Given the description of an element on the screen output the (x, y) to click on. 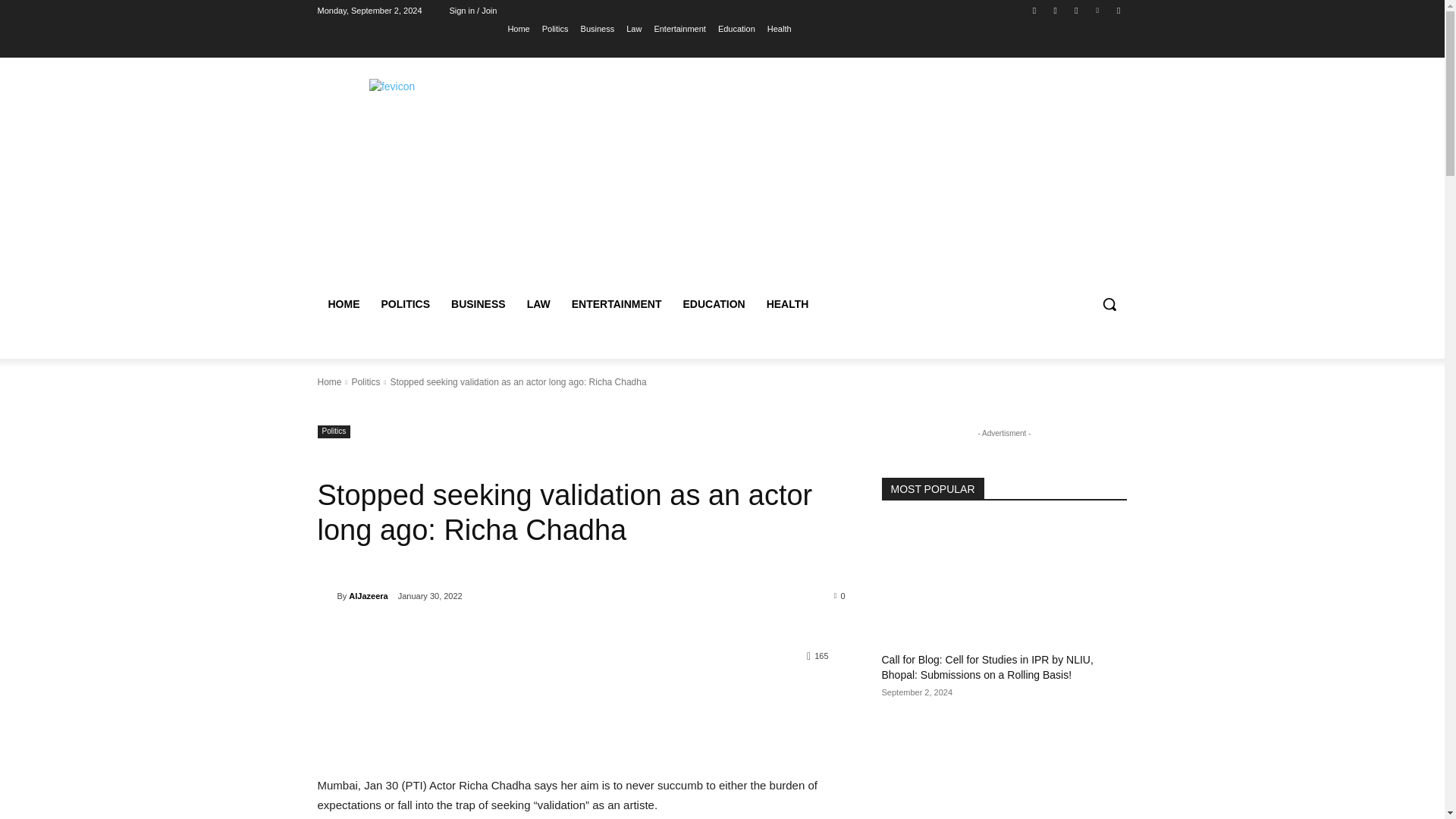
Twitter (1075, 9)
AlJazeera (326, 595)
0 (839, 594)
ENTERTAINMENT (616, 303)
HEALTH (787, 303)
Politics (333, 431)
AlJazeera (368, 595)
Politics (365, 381)
LAW (538, 303)
Business (597, 28)
